Given the description of an element on the screen output the (x, y) to click on. 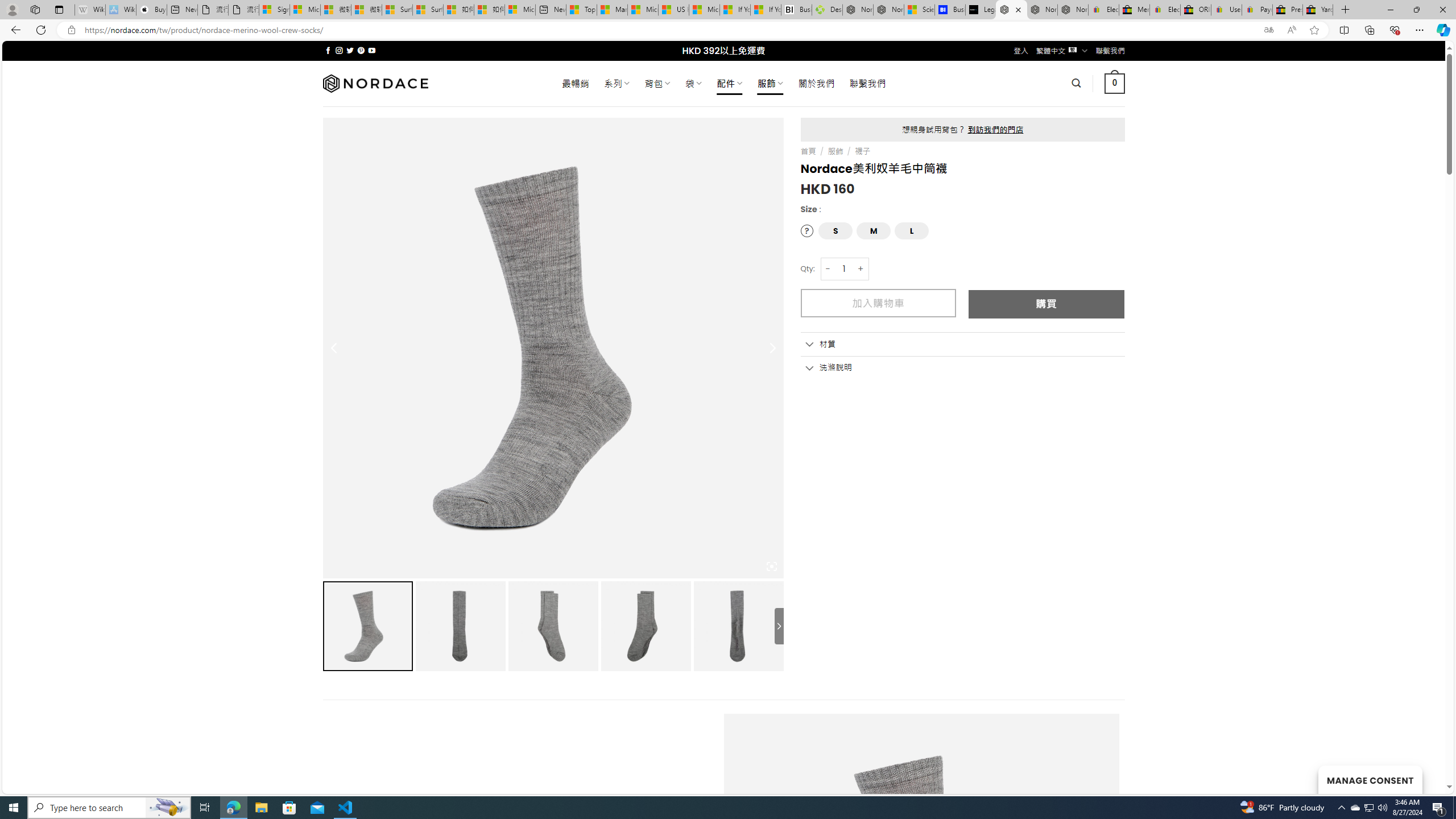
Class: iconic-woothumbs-fullscreen (771, 566)
Buy iPad - Apple (151, 9)
